Given the description of an element on the screen output the (x, y) to click on. 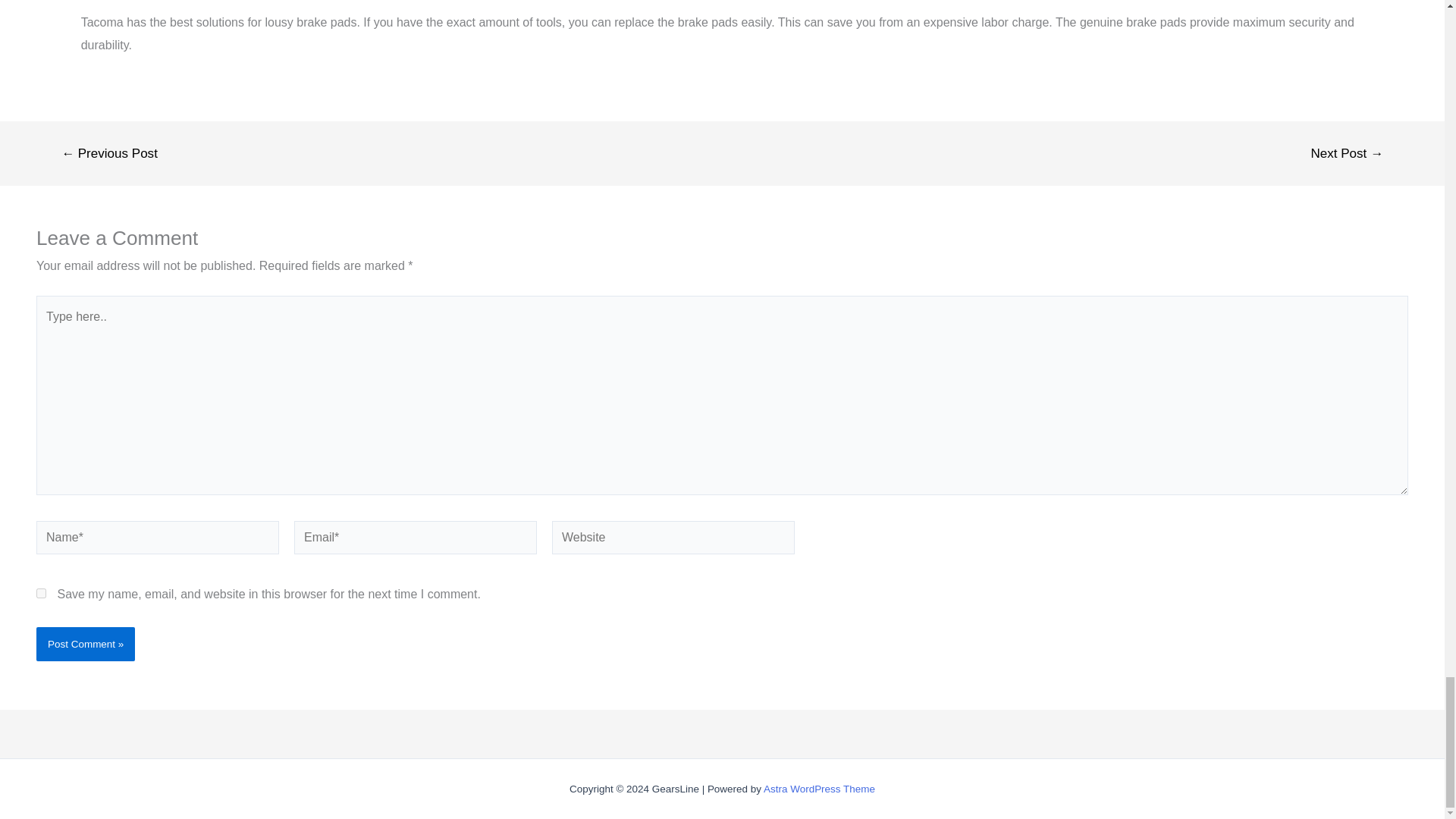
yes (41, 593)
Astra WordPress Theme (818, 788)
